Given the description of an element on the screen output the (x, y) to click on. 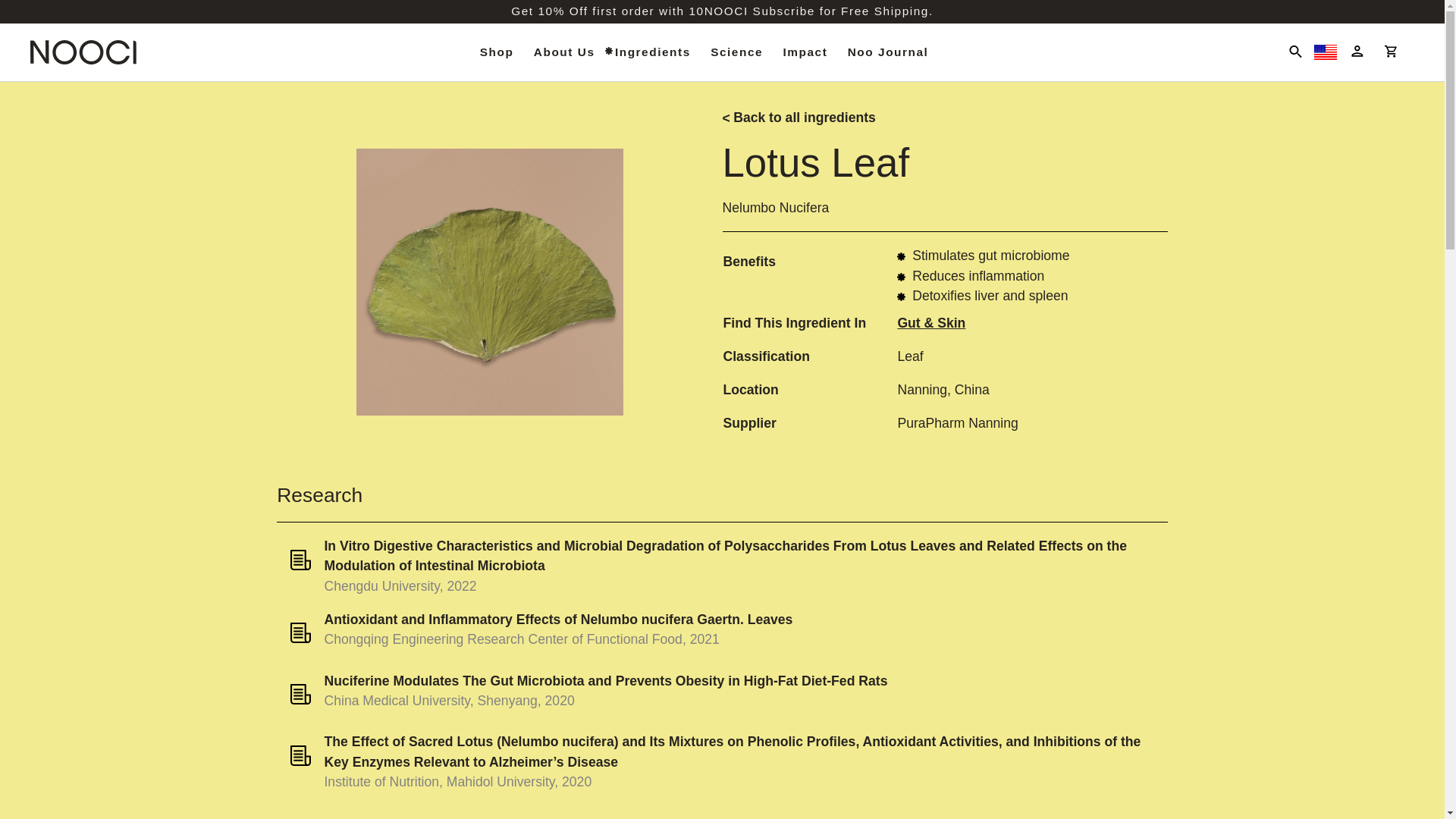
Noo Journal (888, 51)
Cart (1397, 51)
Ingredients (652, 51)
About Us (564, 51)
Log in (1357, 51)
Skip To Content (13, 10)
Science (736, 51)
Impact (805, 51)
